Given the description of an element on the screen output the (x, y) to click on. 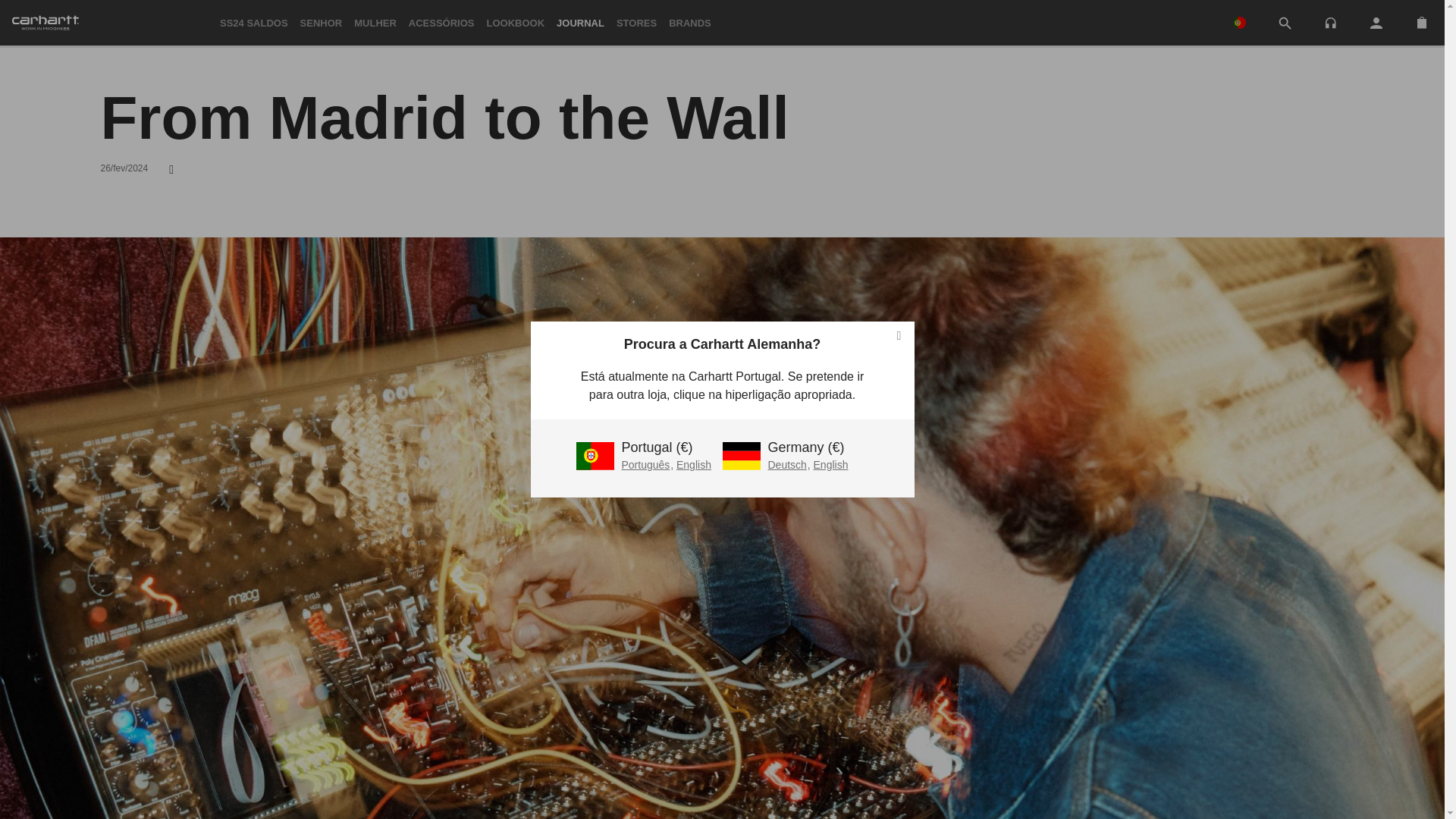
Pesquisa aqui (1285, 23)
Pesquisa aqui (1284, 22)
Radio (1330, 22)
Radio (1330, 21)
